Given the description of an element on the screen output the (x, y) to click on. 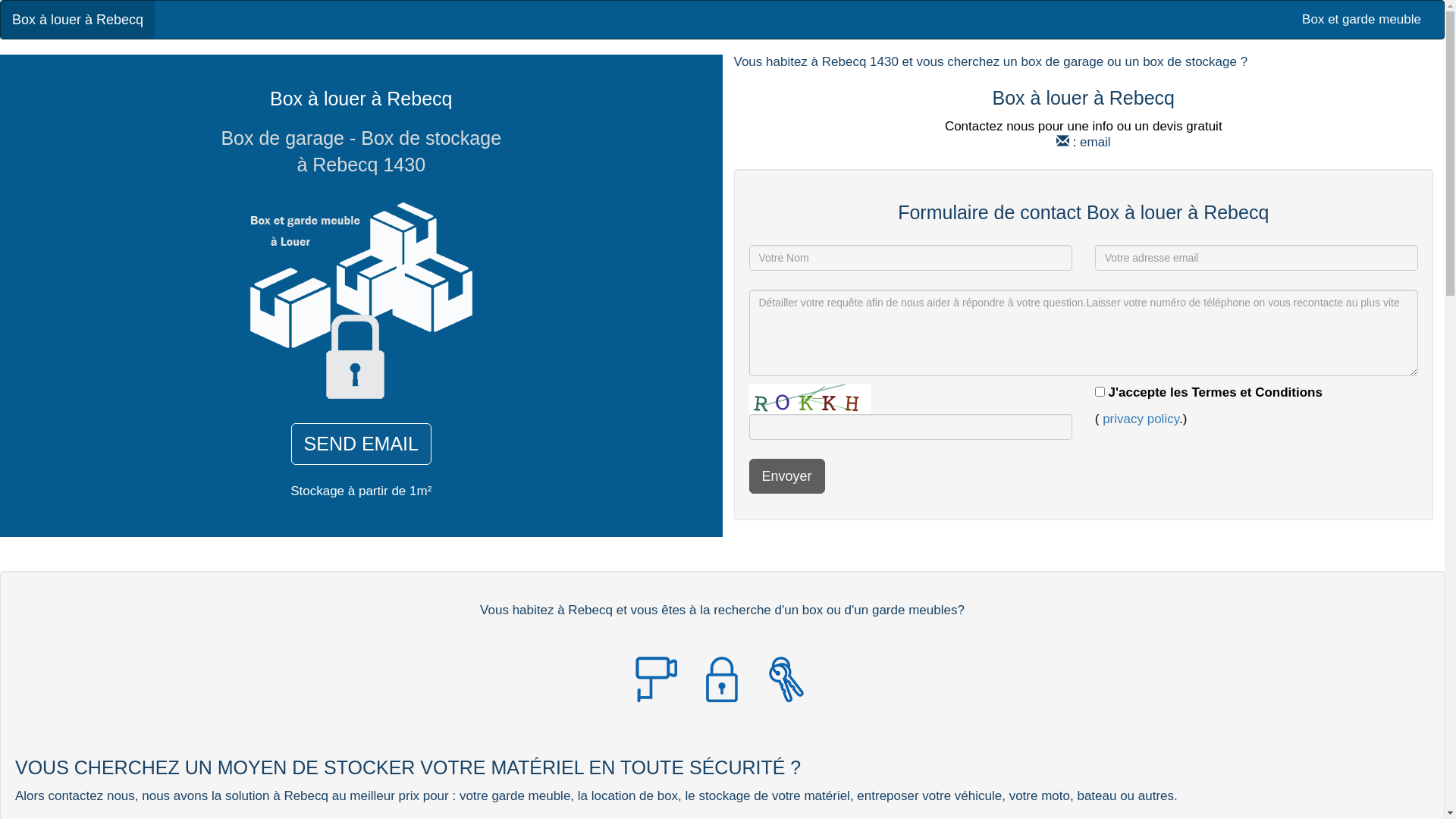
email Element type: text (1094, 141)
privacy policy Element type: text (1140, 418)
SEND EMAIL Element type: text (361, 443)
Box et garde meuble Element type: text (1361, 19)
Envoyer Element type: text (787, 475)
